Given the description of an element on the screen output the (x, y) to click on. 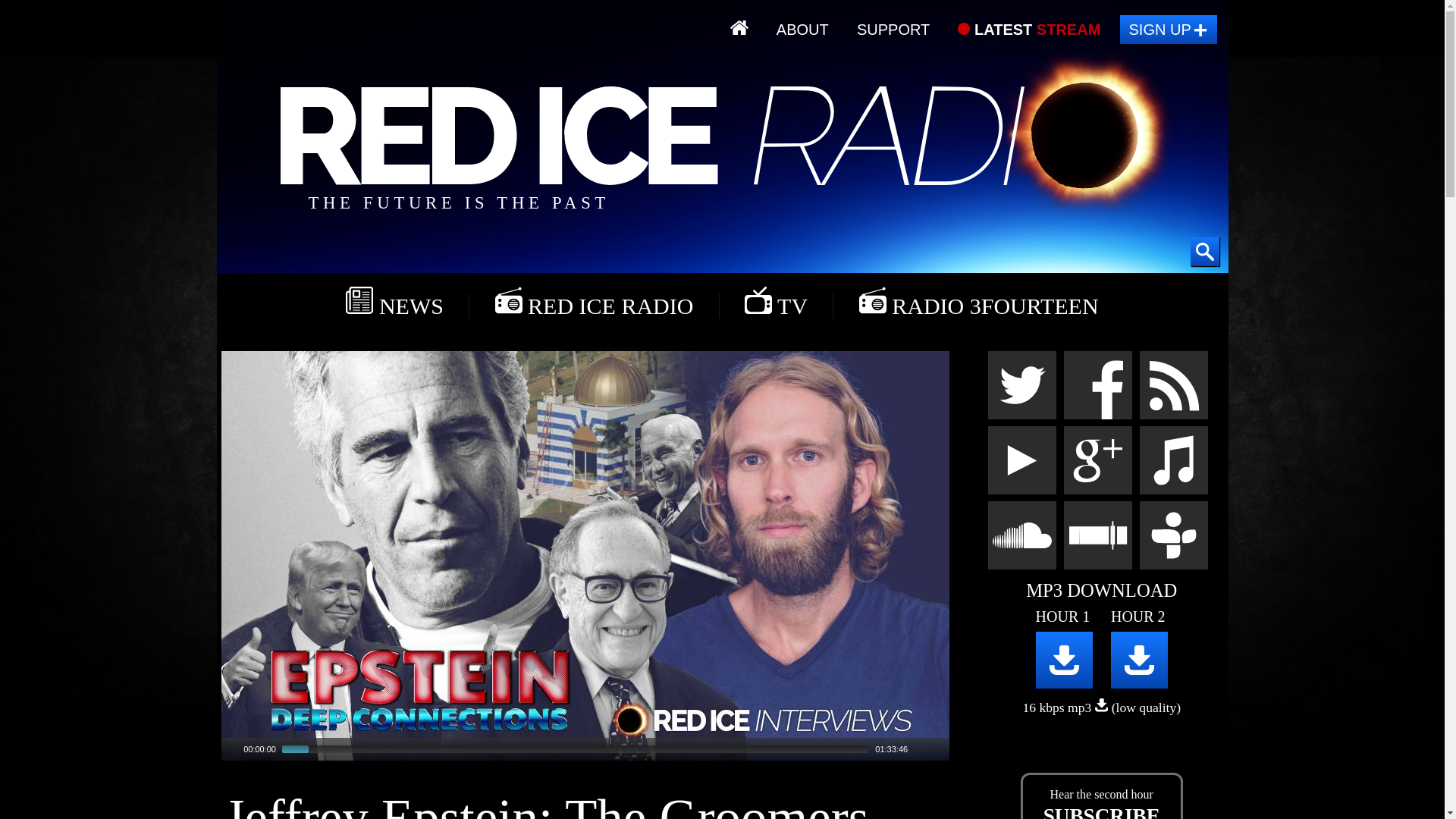
RED ICE RADIO (593, 302)
Mute (920, 748)
SIGN UP (1167, 29)
NEWS (394, 302)
ABOUT (802, 29)
Fullscreen (938, 748)
LATEST STREAM (1029, 29)
RADIO 3FOURTEEN (978, 302)
TV (775, 302)
SUPPORT (893, 29)
